Given the description of an element on the screen output the (x, y) to click on. 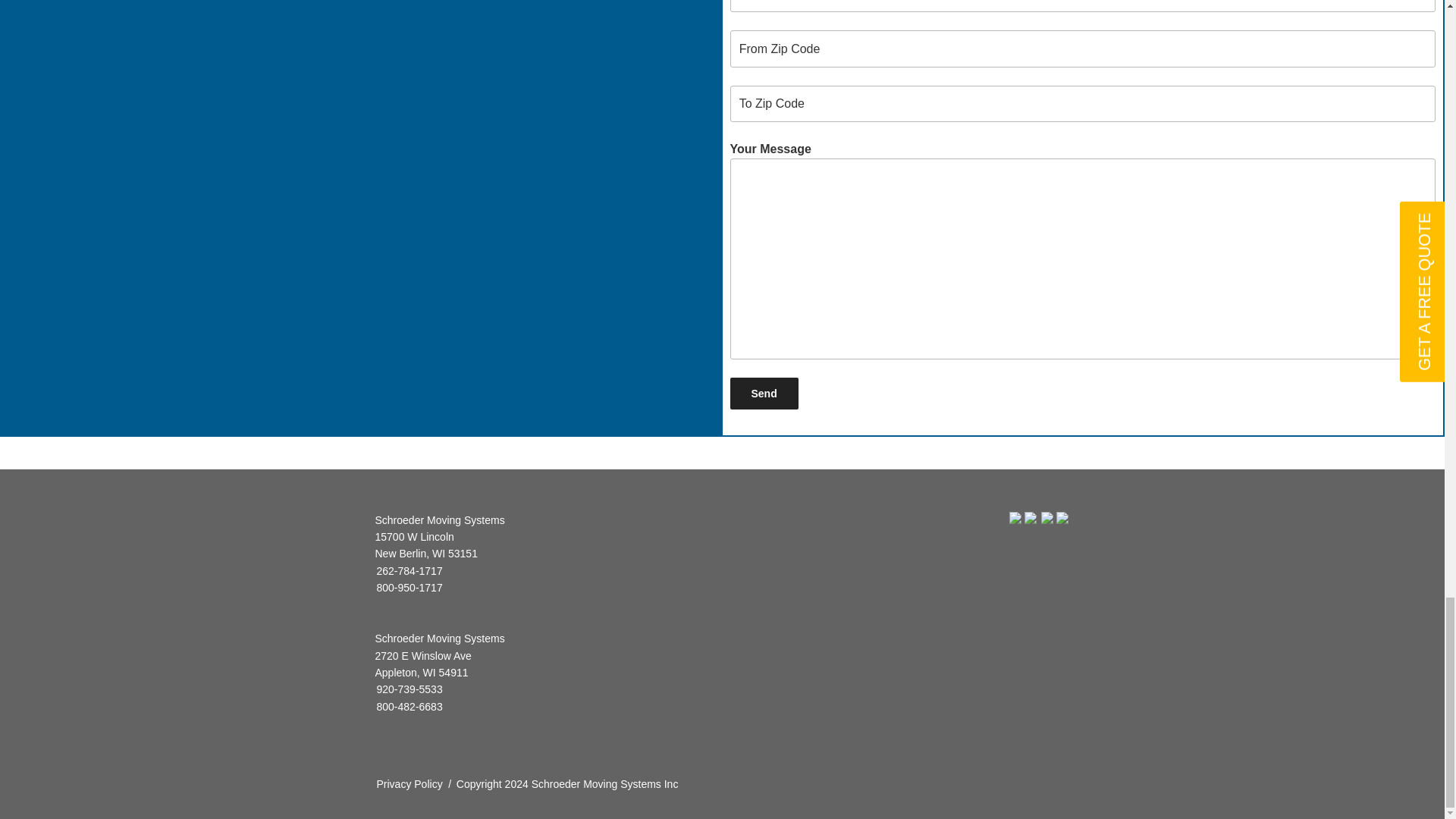
Send (763, 393)
YouTube video player (343, 4)
